Given the description of an element on the screen output the (x, y) to click on. 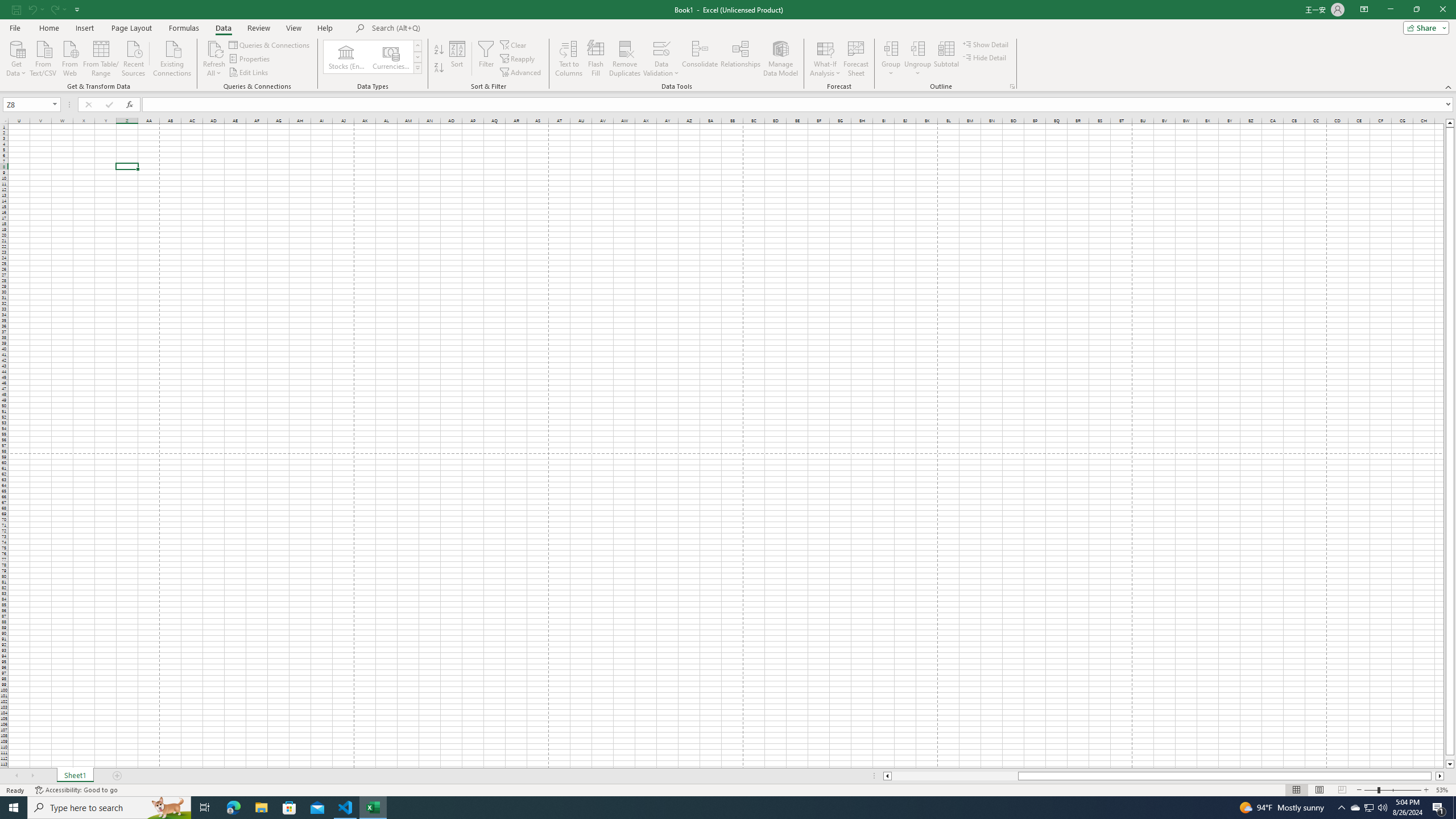
Recent Sources (133, 57)
Flash Fill (595, 58)
Show Detail (985, 44)
AutomationID: ConvertToLinkedEntity (372, 56)
From Web (69, 57)
